Given the description of an element on the screen output the (x, y) to click on. 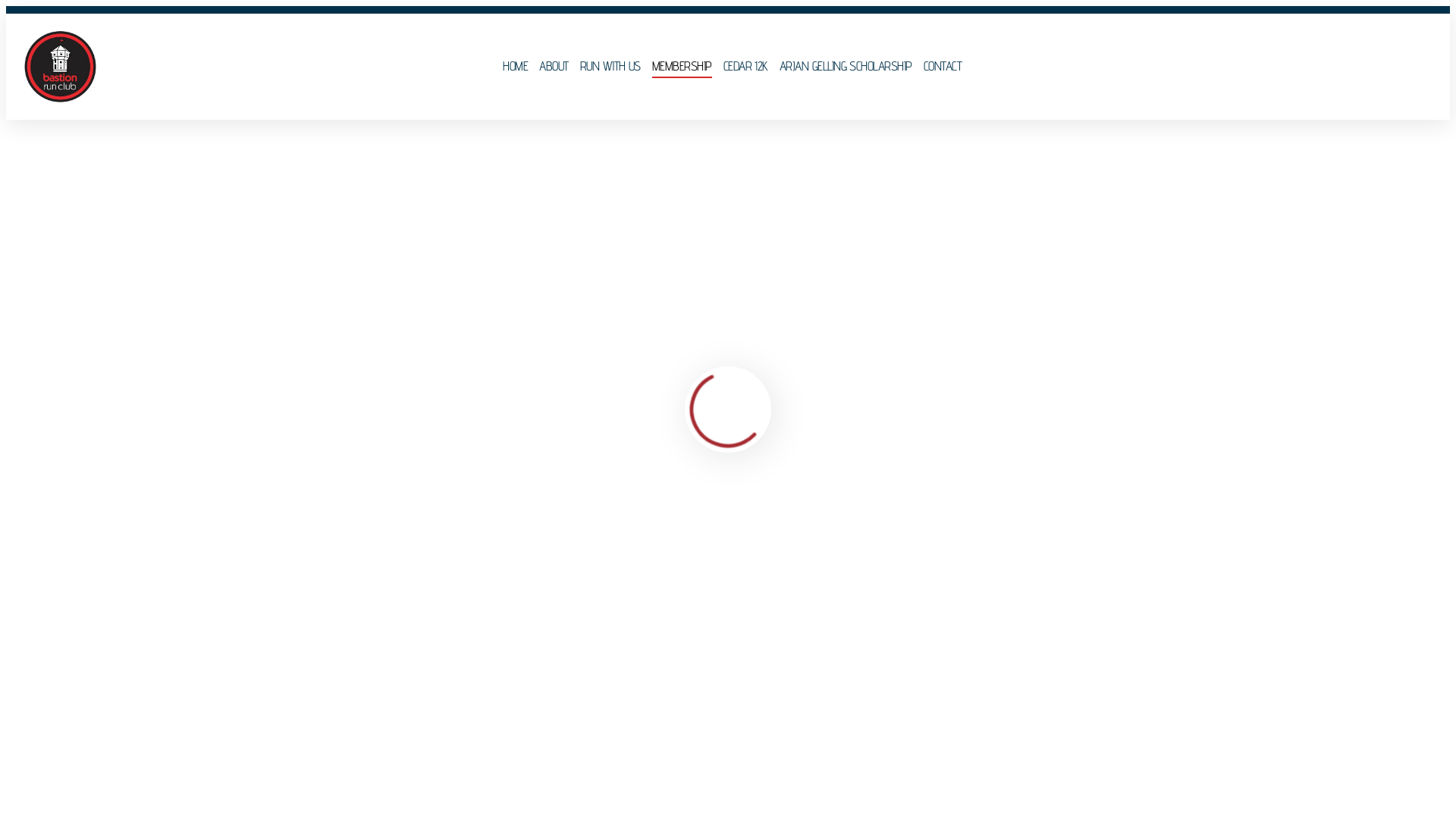
Home Element type: text (25, 158)
MEMBERSHIP Element type: text (682, 67)
CONTACT Element type: text (942, 67)
RUN WITH US Element type: text (610, 67)
CEDAR 12K Element type: text (745, 67)
Bastion Run Club Membership Element type: text (129, 808)
ARJAN GELLING SCHOLARSHIP Element type: text (845, 67)
HOME Element type: text (514, 67)
ABOUT Element type: text (553, 67)
